Given the description of an element on the screen output the (x, y) to click on. 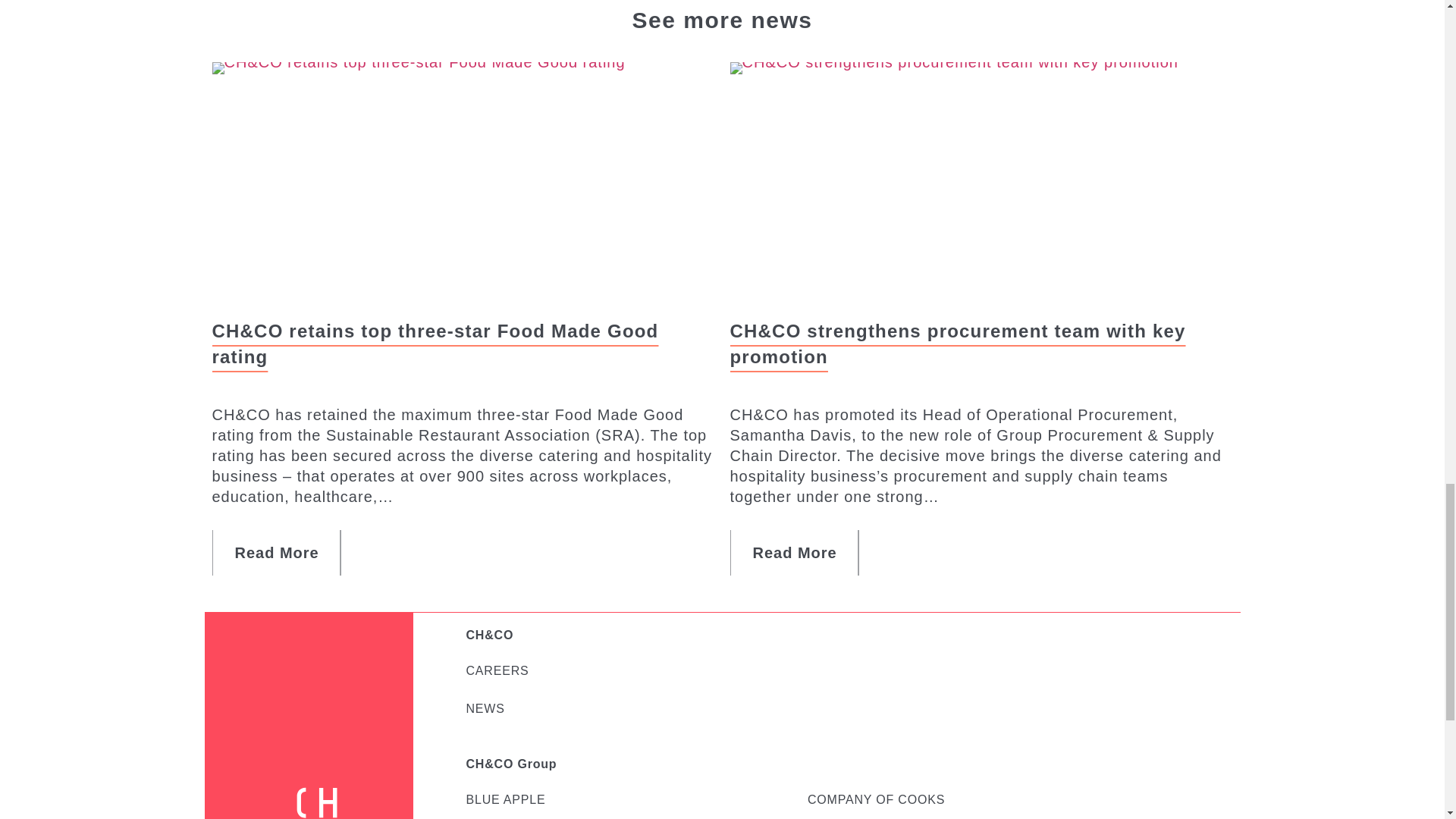
NEWS (484, 707)
Read More (794, 552)
CAREERS (496, 670)
BLUE APPLE (504, 799)
COMPANY OF COOKS (876, 799)
Read More (277, 552)
